Given the description of an element on the screen output the (x, y) to click on. 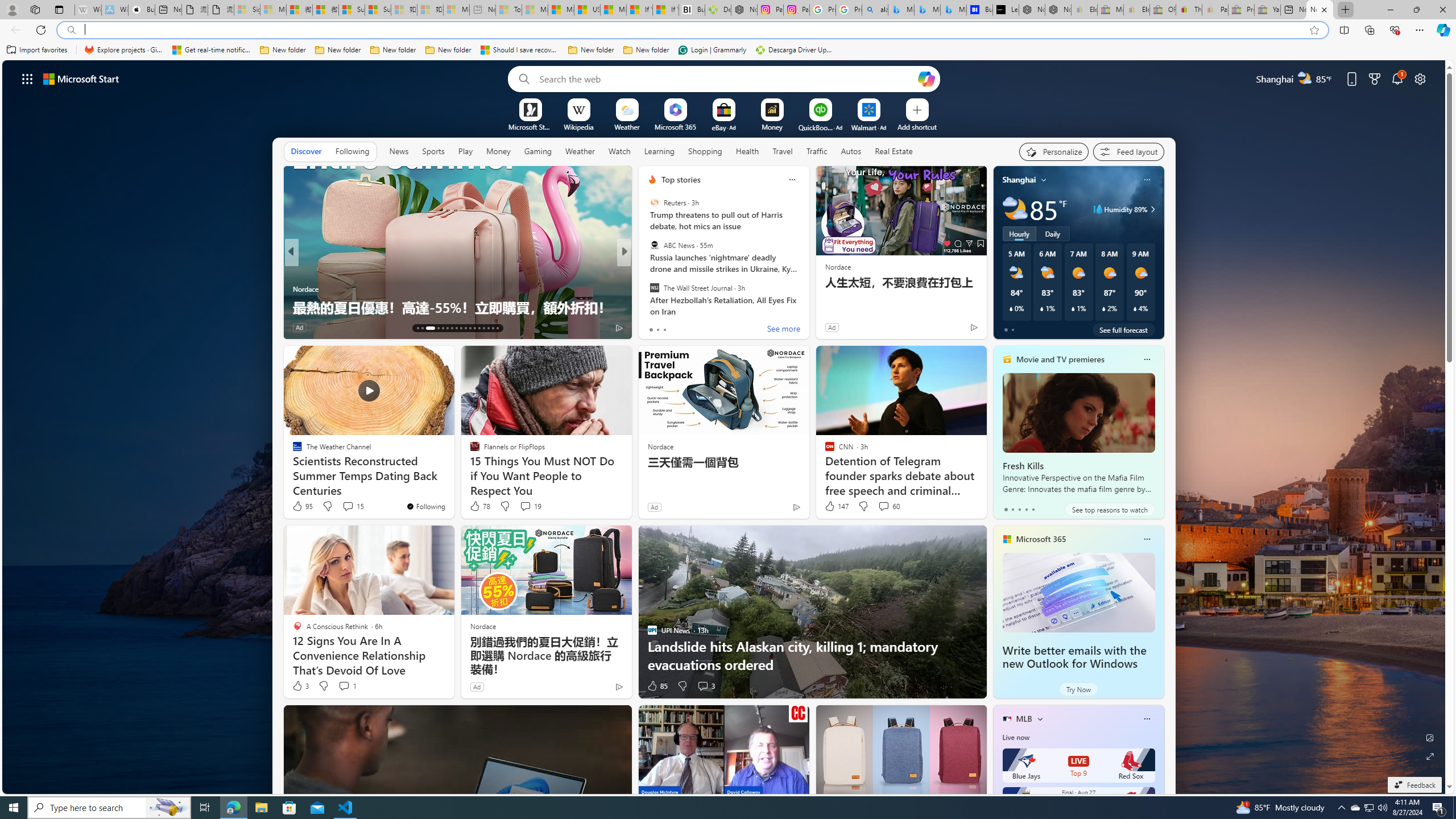
Weather (580, 151)
Movie and TV premieres (1060, 359)
186 Like (654, 327)
Real Estate (893, 151)
Daily (1052, 233)
Microsoft Start Gaming (529, 126)
Traffic (816, 151)
View comments 2 Comment (698, 327)
